Given the description of an element on the screen output the (x, y) to click on. 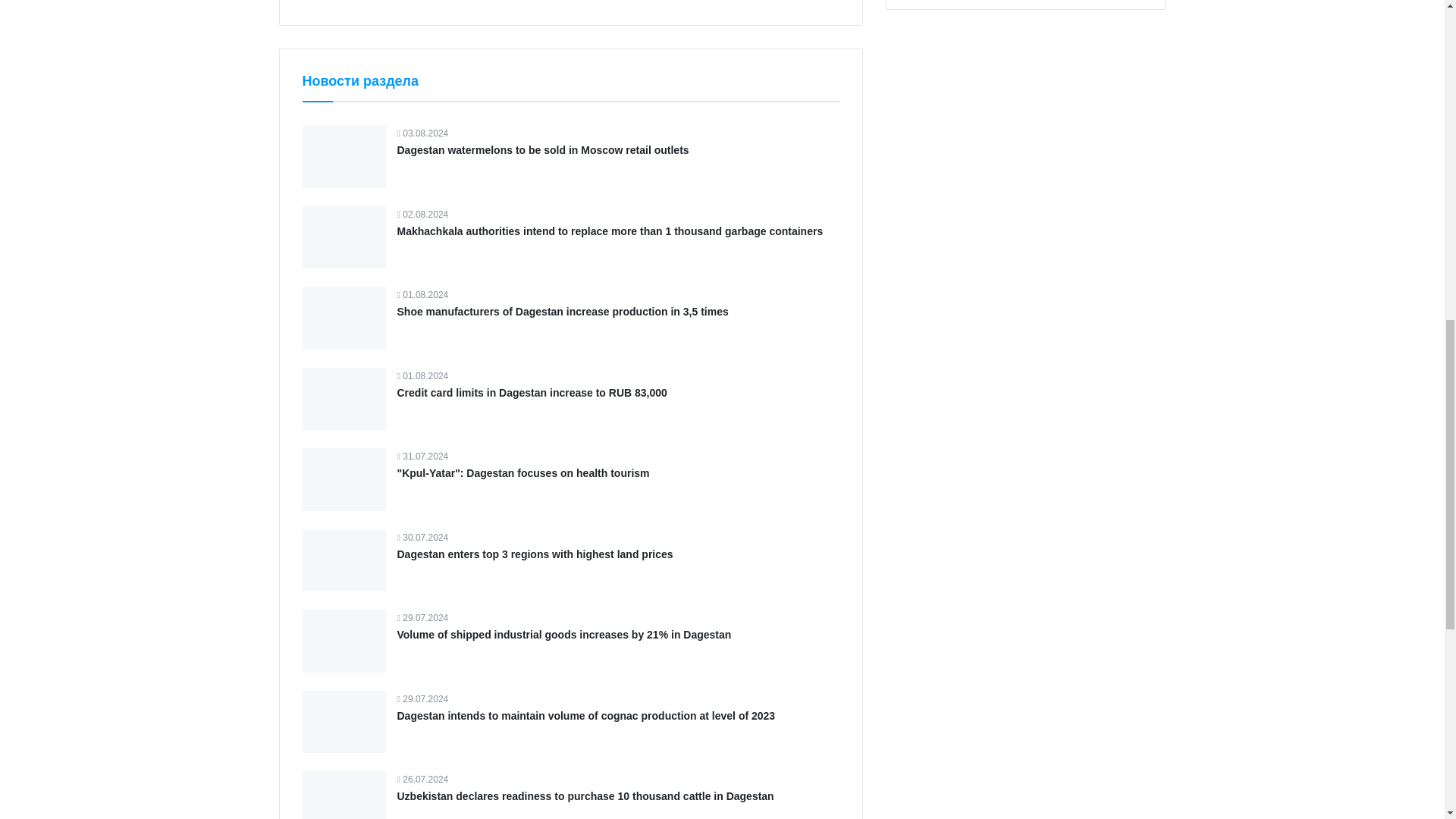
Dagestan watermelons to be sold in Moscow retail outlets (542, 150)
Dagestan watermelons to be sold in Moscow retail outlets (542, 150)
Dagestan enters top 3 regions with highest land prices (534, 553)
Credit card limits in Dagestan increase to RUB 83,000 (531, 392)
"Kpul-Yatar": Dagestan focuses on health tourism (523, 472)
